Given the description of an element on the screen output the (x, y) to click on. 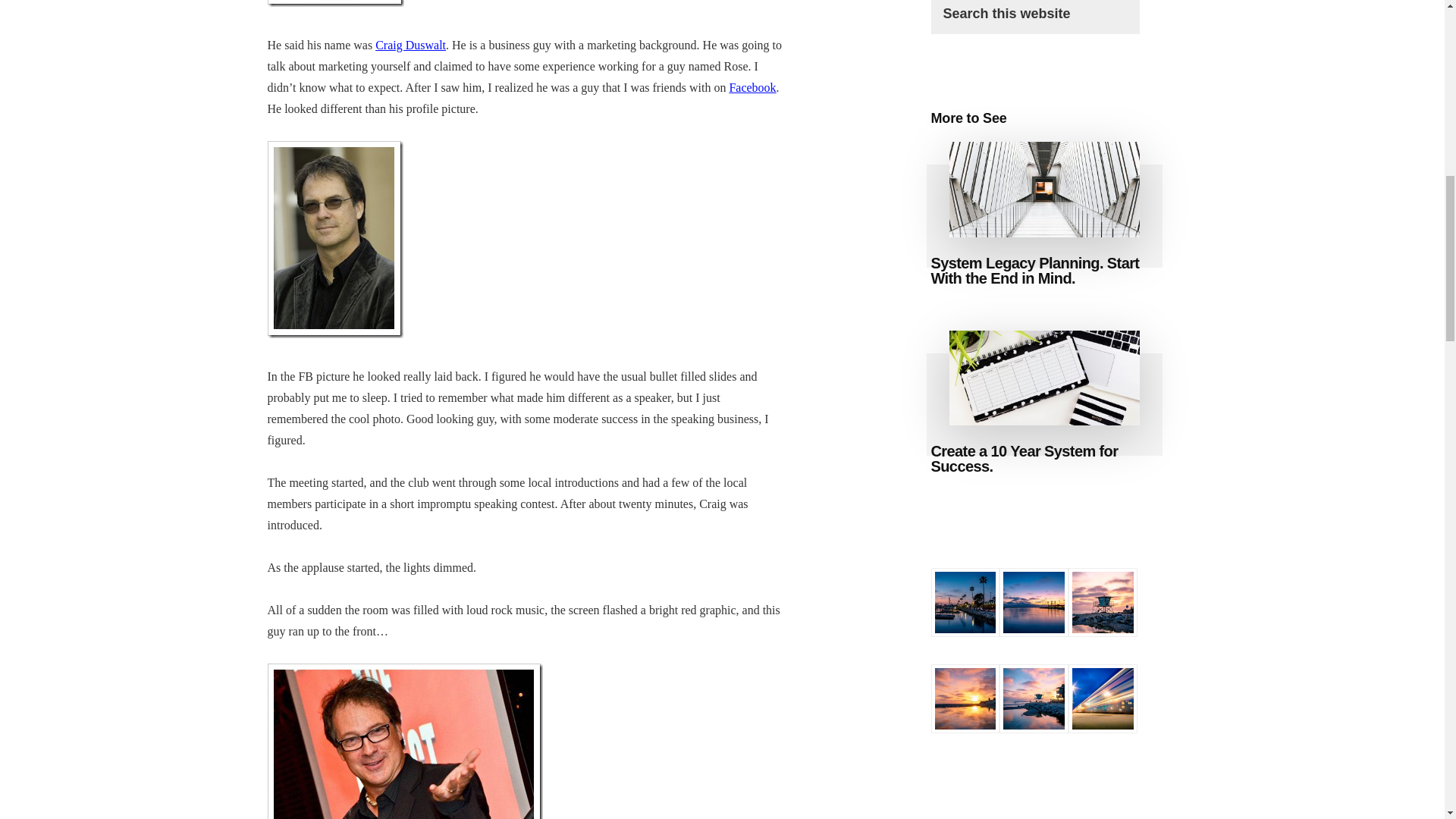
Facebook (752, 87)
Craig Duswalt (410, 44)
craig-normal (334, 3)
craig-rockstar-promo-crop (403, 741)
